Given the description of an element on the screen output the (x, y) to click on. 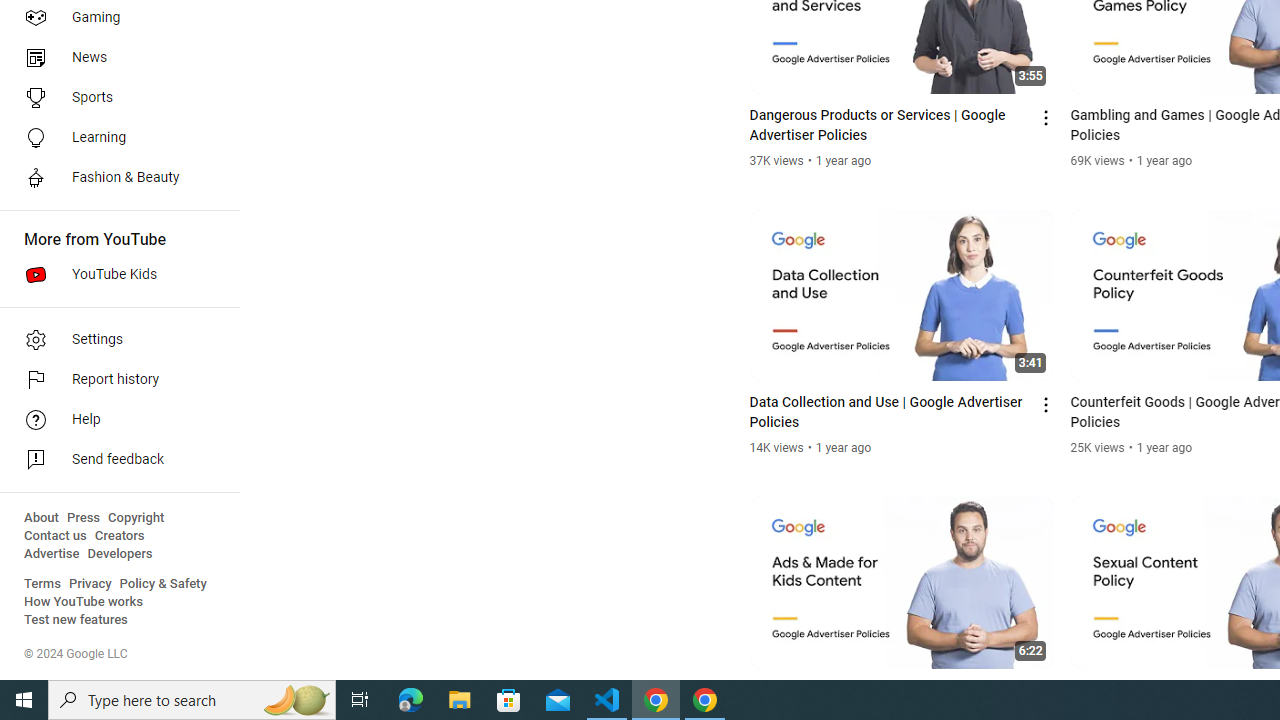
How YouTube works (83, 602)
Advertise (51, 554)
Creators (118, 536)
Learning (113, 137)
Fashion & Beauty (113, 177)
Policy & Safety (163, 584)
Copyright (136, 518)
